Given the description of an element on the screen output the (x, y) to click on. 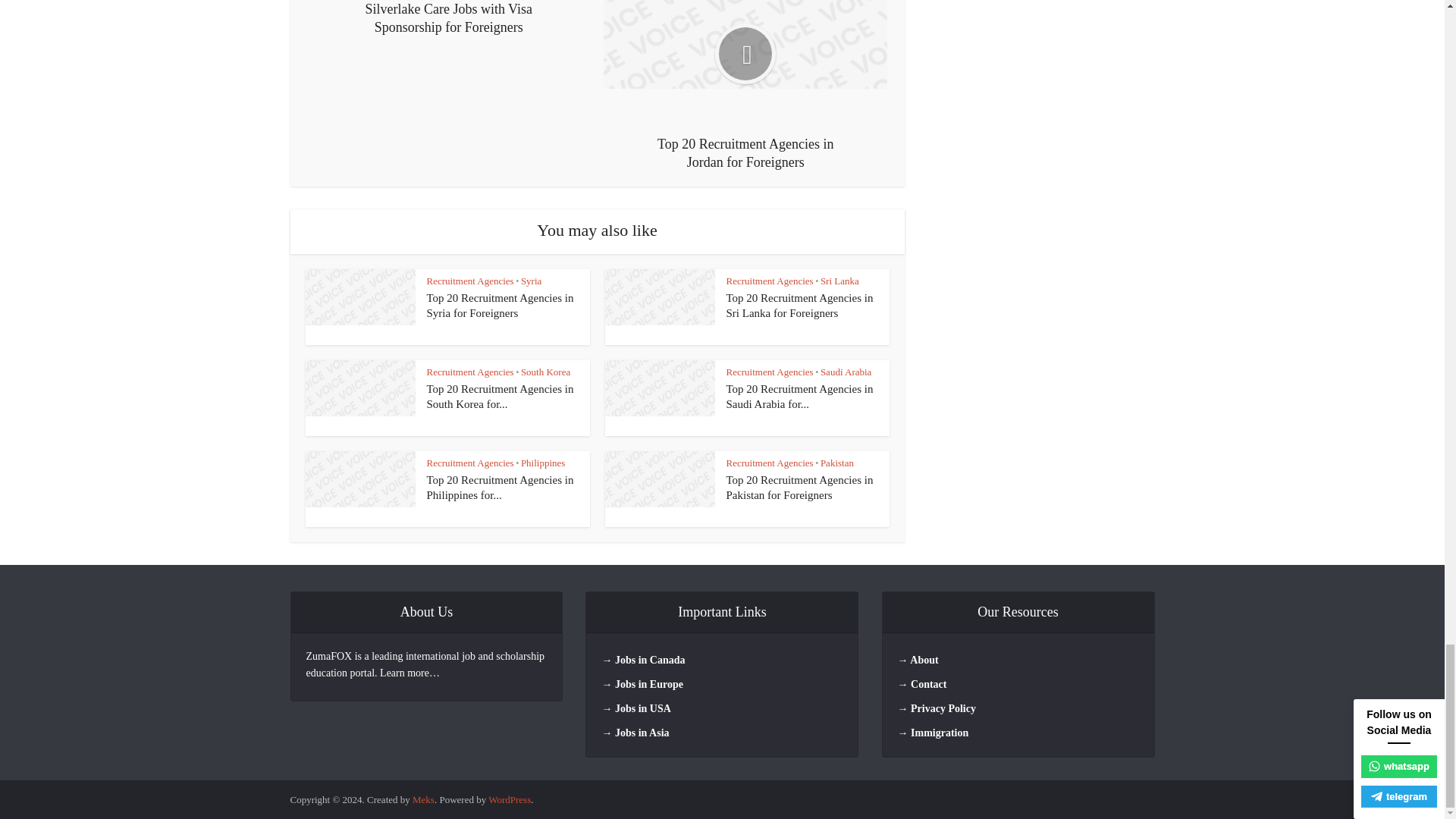
Top 20 Recruitment Agencies in Philippines for Foreigners (499, 487)
Top 20 Recruitment Agencies in South Korea for Foreigners (499, 396)
Top 20 Recruitment Agencies in Sri Lanka for Foreigners (799, 305)
Top 20 Recruitment Agencies in Pakistan for Foreigners (799, 487)
Top 20 Recruitment Agencies in Saudi Arabia for Foreigners (799, 396)
Top 20 Recruitment Agencies in Syria for Foreigners (499, 305)
